Given the description of an element on the screen output the (x, y) to click on. 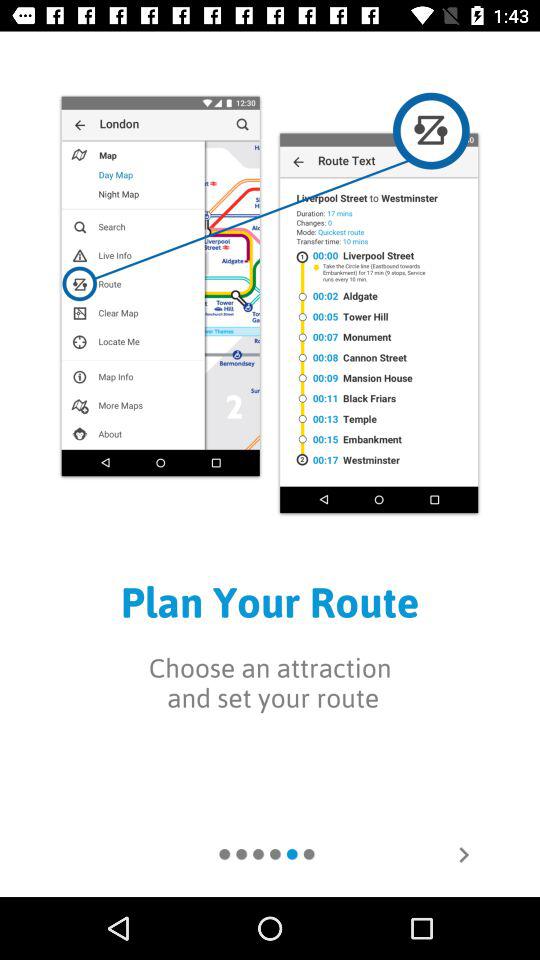
next window (463, 855)
